Given the description of an element on the screen output the (x, y) to click on. 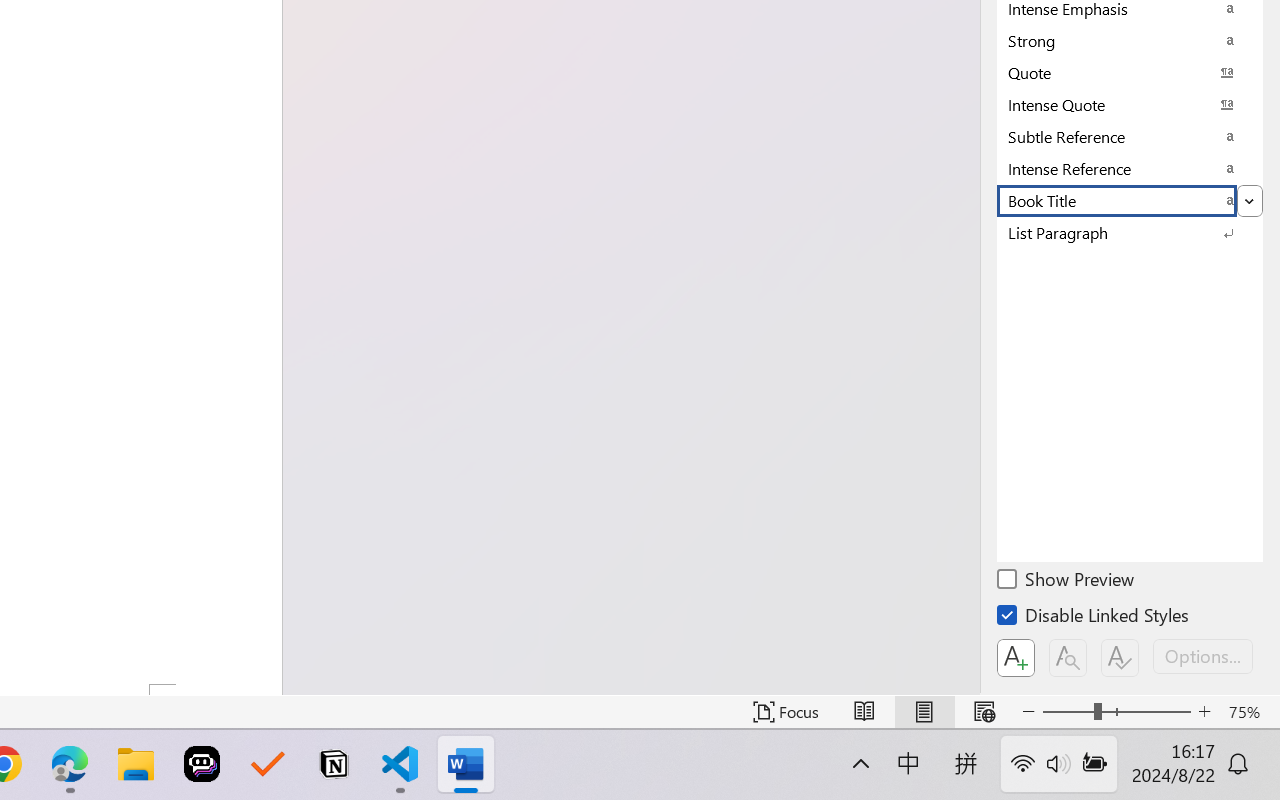
Intense Quote (1130, 104)
Options... (1203, 656)
